Given the description of an element on the screen output the (x, y) to click on. 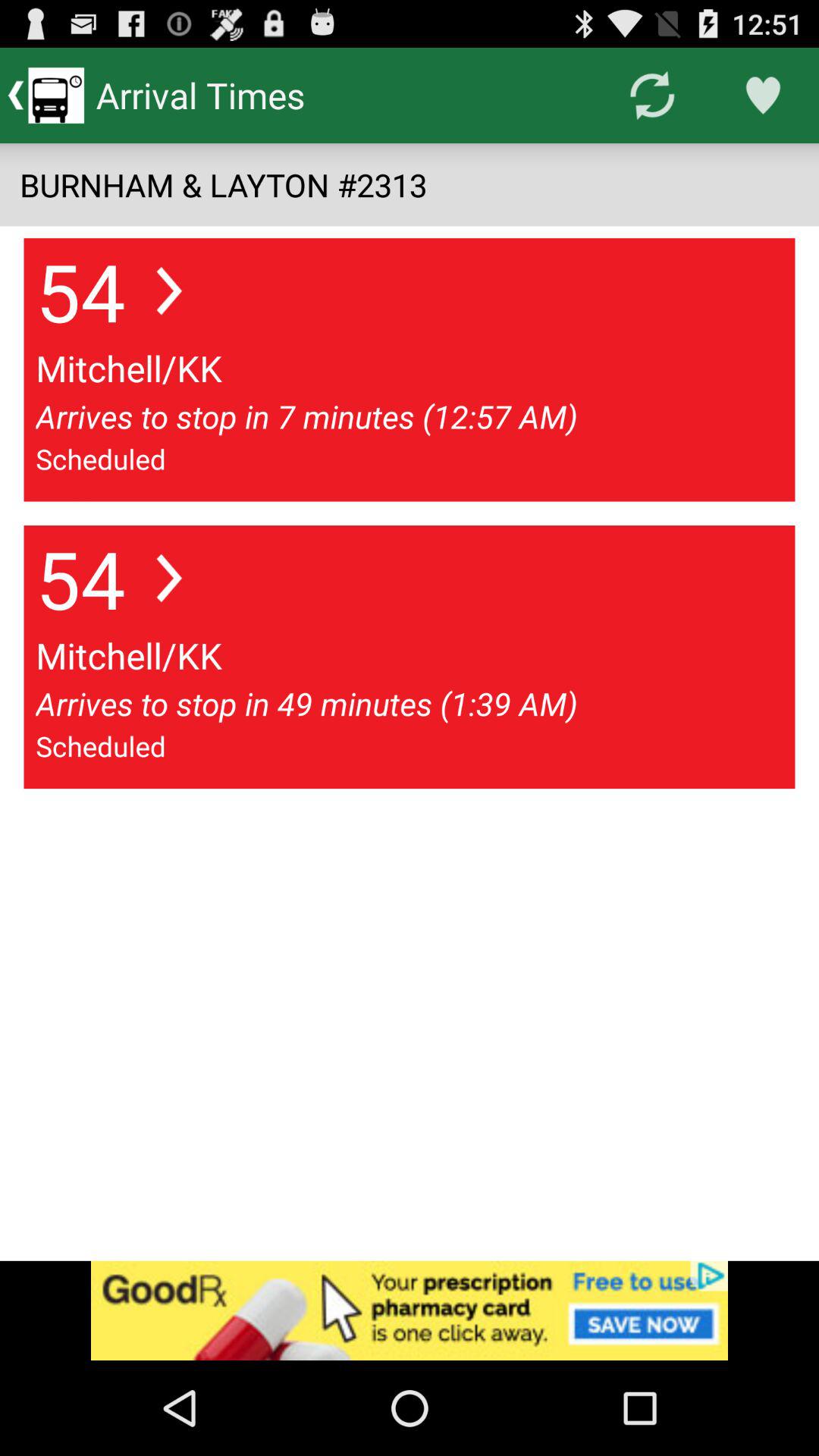
go to advertisement (409, 1310)
